Given the description of an element on the screen output the (x, y) to click on. 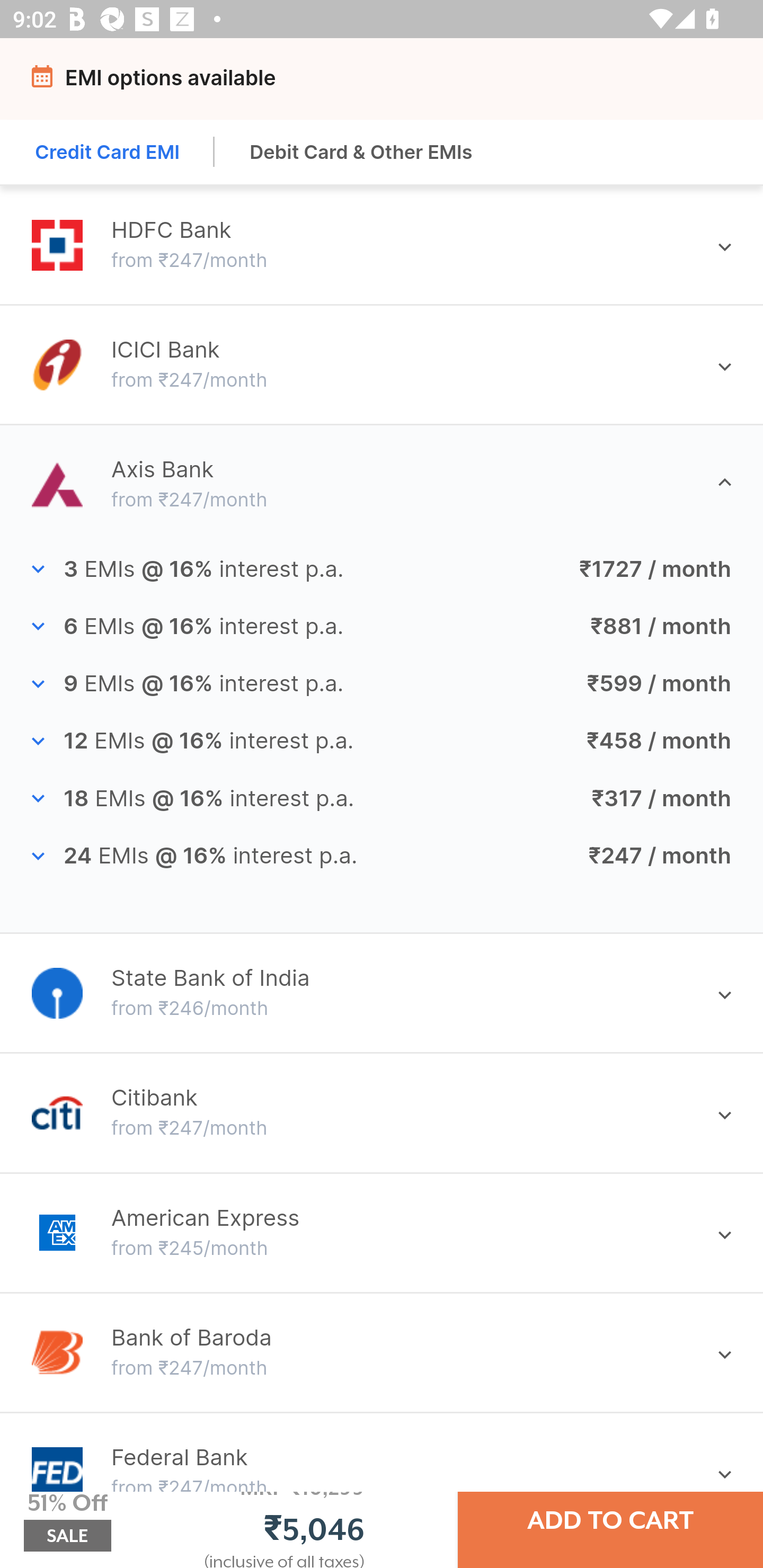
Navigate up (44, 82)
Credit Card EMI (107, 152)
Debit Card & Other EMIs (361, 152)
HDFC Bank HDFC Bank from ₹247/month (381, 244)
ICICI Bank ICICI Bank from ₹247/month (381, 364)
Axis Bank Axis Bank from ₹247/month (381, 484)
3 EMIs @ 16% interest p.a. ₹1727 / month (381, 569)
6 EMIs @ 16% interest p.a. ₹881 / month (381, 626)
9 EMIs @ 16% interest p.a. ₹599 / month (381, 684)
12 EMIs @ 16% interest p.a. ₹458 / month (381, 740)
18 EMIs @ 16% interest p.a. ₹317 / month (381, 798)
24 EMIs @ 16% interest p.a. ₹247 / month (381, 855)
Citibank Citibank from ₹247/month (381, 1113)
American Express American Express from ₹245/month (381, 1232)
Bank of Baroda Bank of Baroda from ₹247/month (381, 1352)
Federal Bank Federal Bank from ₹247/month (381, 1468)
ADD TO CART (610, 1520)
